Given the description of an element on the screen output the (x, y) to click on. 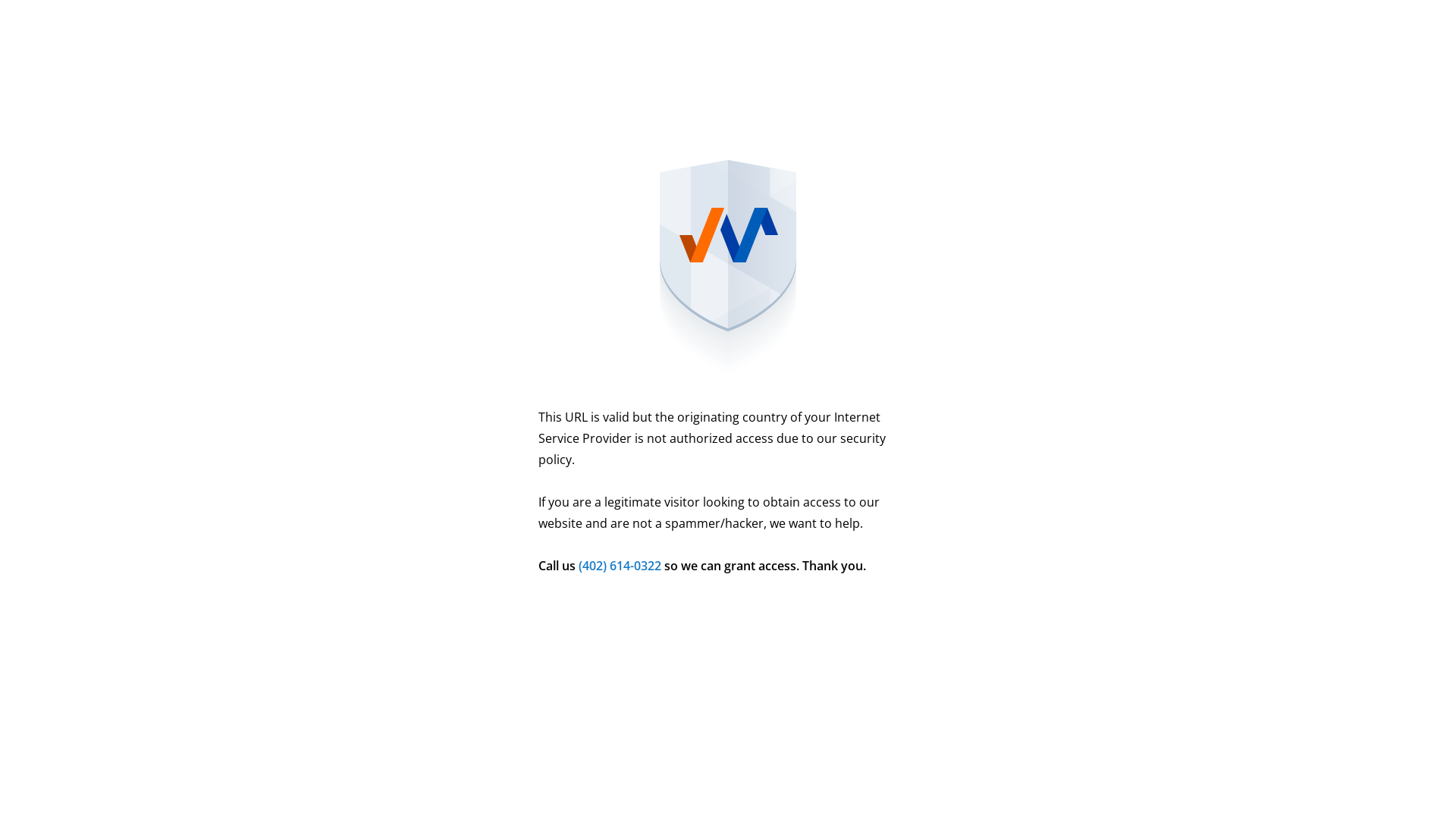
Go back to previous site Element type: text (728, 638)
(402) 614-0322 Element type: text (619, 564)
